Given the description of an element on the screen output the (x, y) to click on. 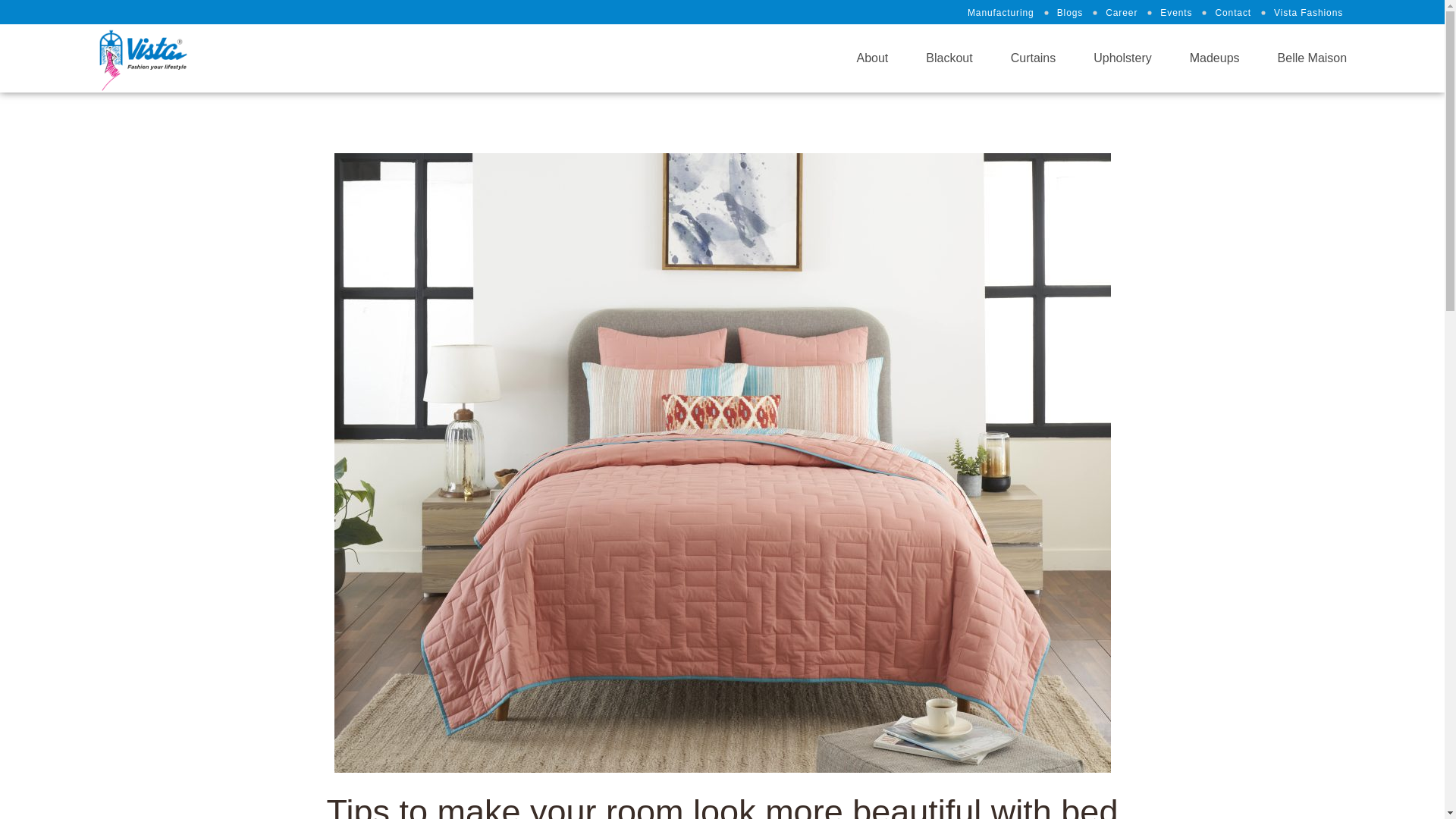
Events (1184, 13)
Belle Maison (1313, 58)
Vista Fashions (1308, 12)
Blogs (1078, 13)
Upholstery (1122, 58)
Madeups (1214, 58)
About (872, 58)
Blackout (949, 58)
Curtains (1033, 58)
Manufacturing (1008, 13)
